Given the description of an element on the screen output the (x, y) to click on. 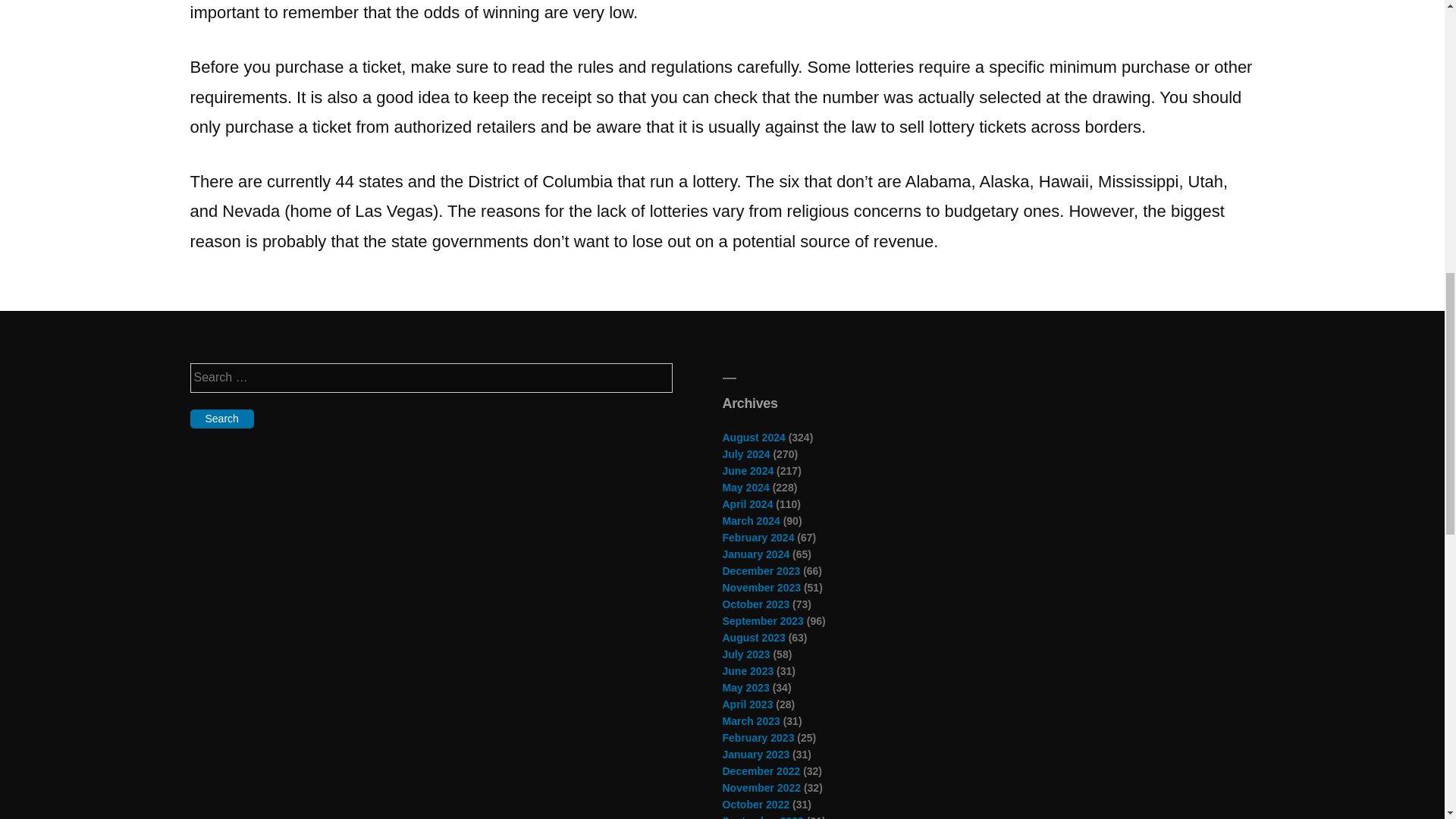
January 2023 (755, 754)
October 2022 (755, 804)
January 2024 (755, 553)
August 2023 (753, 637)
February 2024 (757, 537)
October 2023 (755, 604)
Search (221, 418)
March 2024 (750, 521)
September 2023 (762, 621)
December 2022 (760, 770)
